Given the description of an element on the screen output the (x, y) to click on. 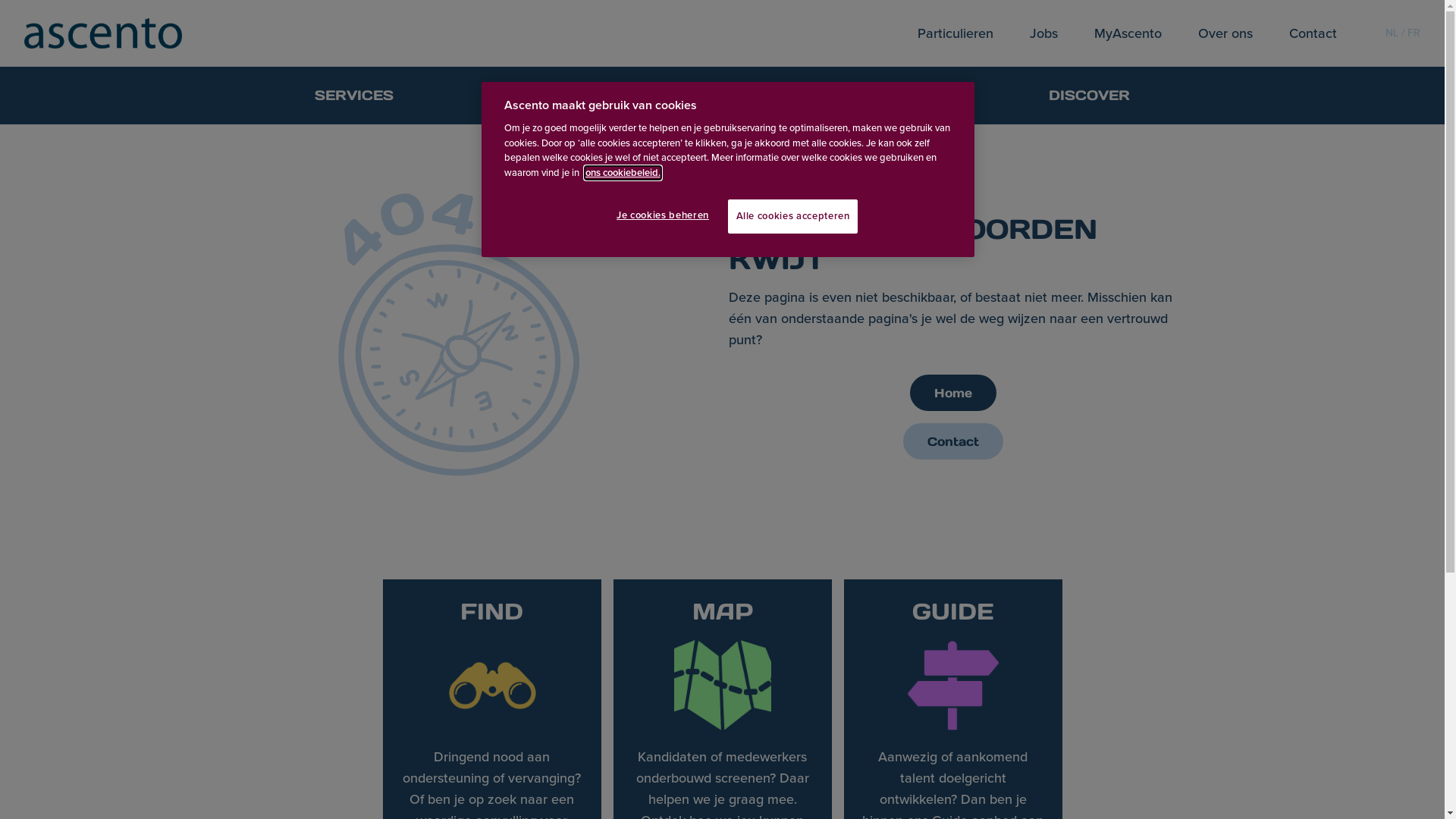
NL Element type: text (1391, 32)
GUIDE Element type: text (890, 94)
Je cookies beheren Element type: text (666, 215)
Contact Element type: text (1312, 33)
Jobs Element type: text (1043, 33)
Home Element type: text (953, 392)
FR Element type: text (1413, 32)
Contact Element type: text (953, 441)
Particulieren Element type: text (955, 33)
MyAscento Element type: text (1127, 33)
SERVICES Element type: text (353, 94)
DISCOVER Element type: text (1088, 94)
Over ons Element type: text (1225, 33)
Alle cookies accepteren Element type: text (793, 215)
Contact Element type: text (953, 441)
Home Element type: text (953, 392)
ons cookiebeleid. Element type: text (622, 172)
MAP Element type: text (715, 94)
FIND Element type: text (545, 94)
